Given the description of an element on the screen output the (x, y) to click on. 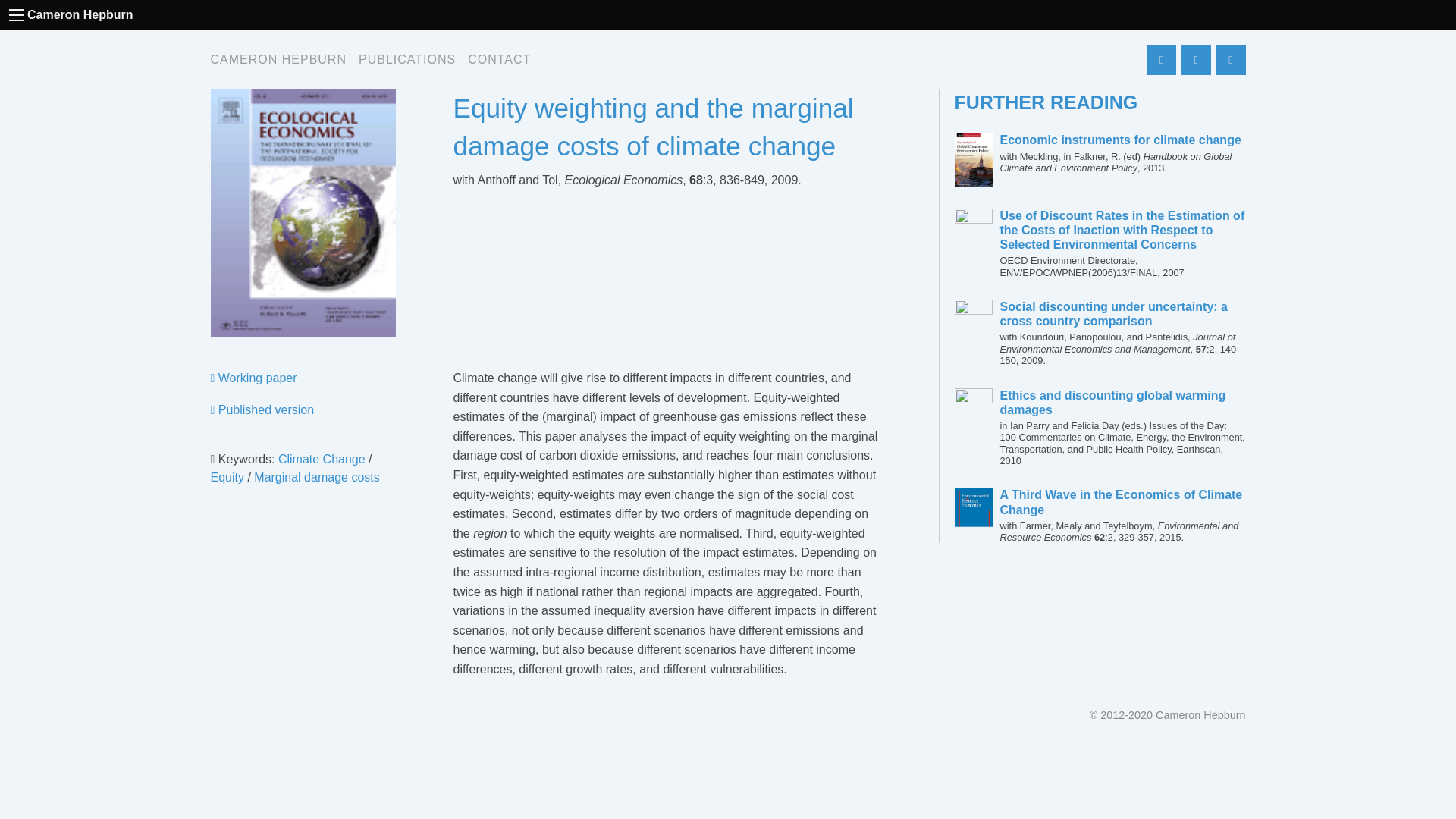
Equity (227, 477)
CAMERON HEPBURN (278, 59)
Working paper (254, 377)
Twitter (1195, 60)
Published version (262, 409)
Google Scholar (1161, 60)
LinkedIn (1229, 60)
Climate Change (321, 459)
